Given the description of an element on the screen output the (x, y) to click on. 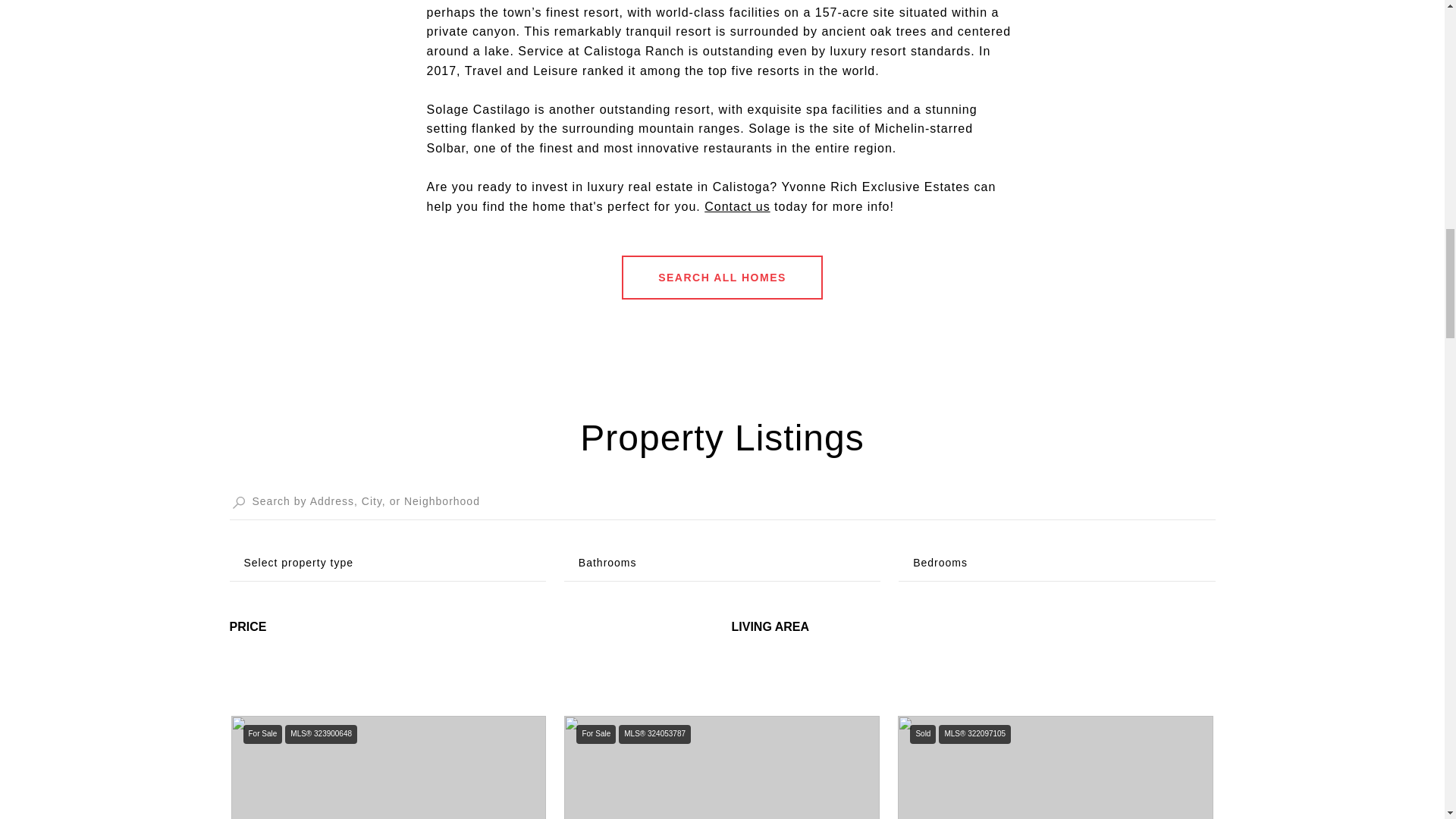
Contact us (737, 205)
SEARCH ALL HOMES (721, 277)
